Given the description of an element on the screen output the (x, y) to click on. 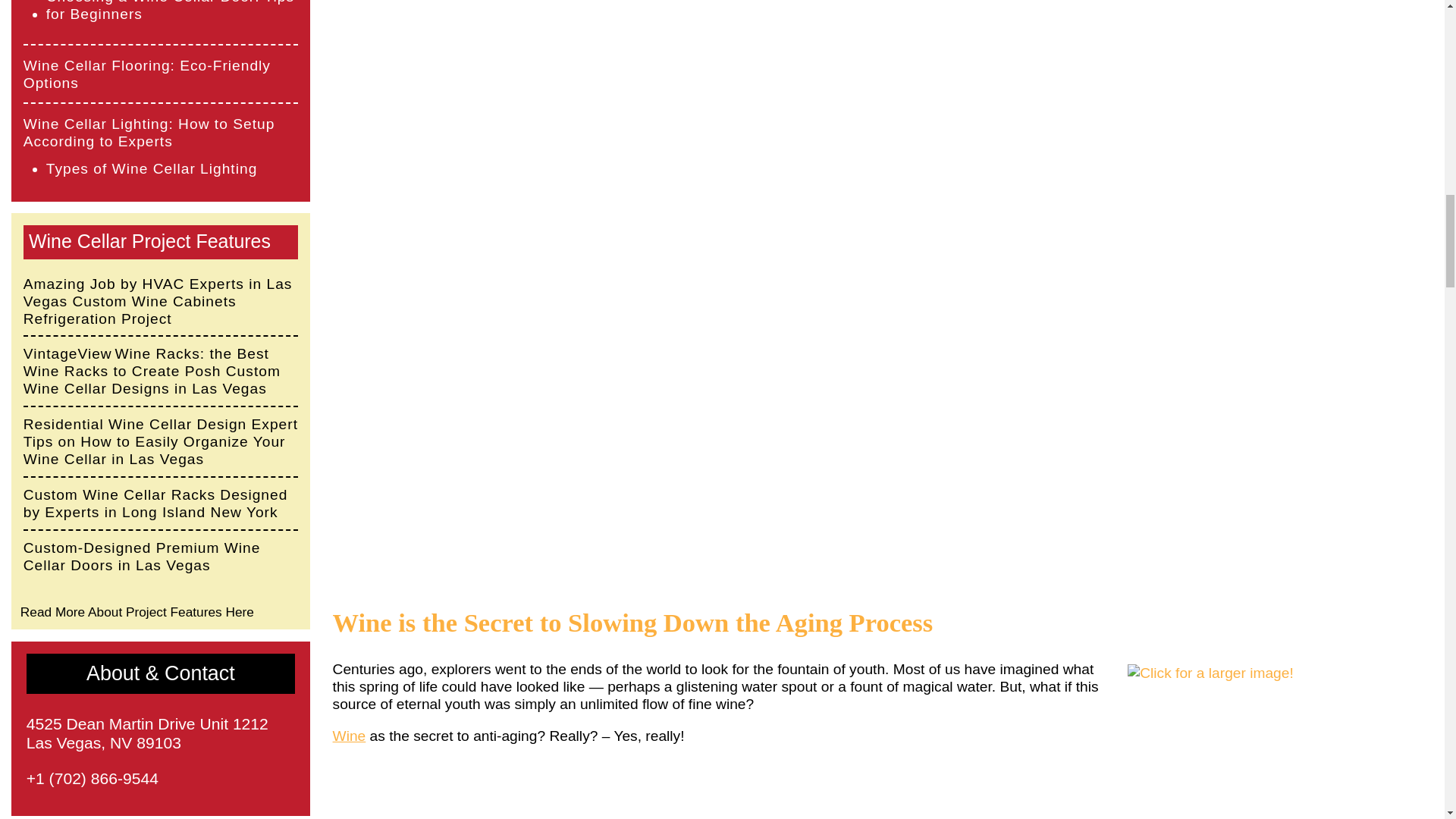
Types of Wine Cellar Lighting (151, 168)
Wine Cellar Lighting: How to Setup According to Experts (160, 132)
Choosing a Wine Cellar Door: Tips for Beginners (172, 11)
Wine Cellar Flooring: Eco-Friendly Options (160, 73)
The best way to serve wine (349, 735)
